Given the description of an element on the screen output the (x, y) to click on. 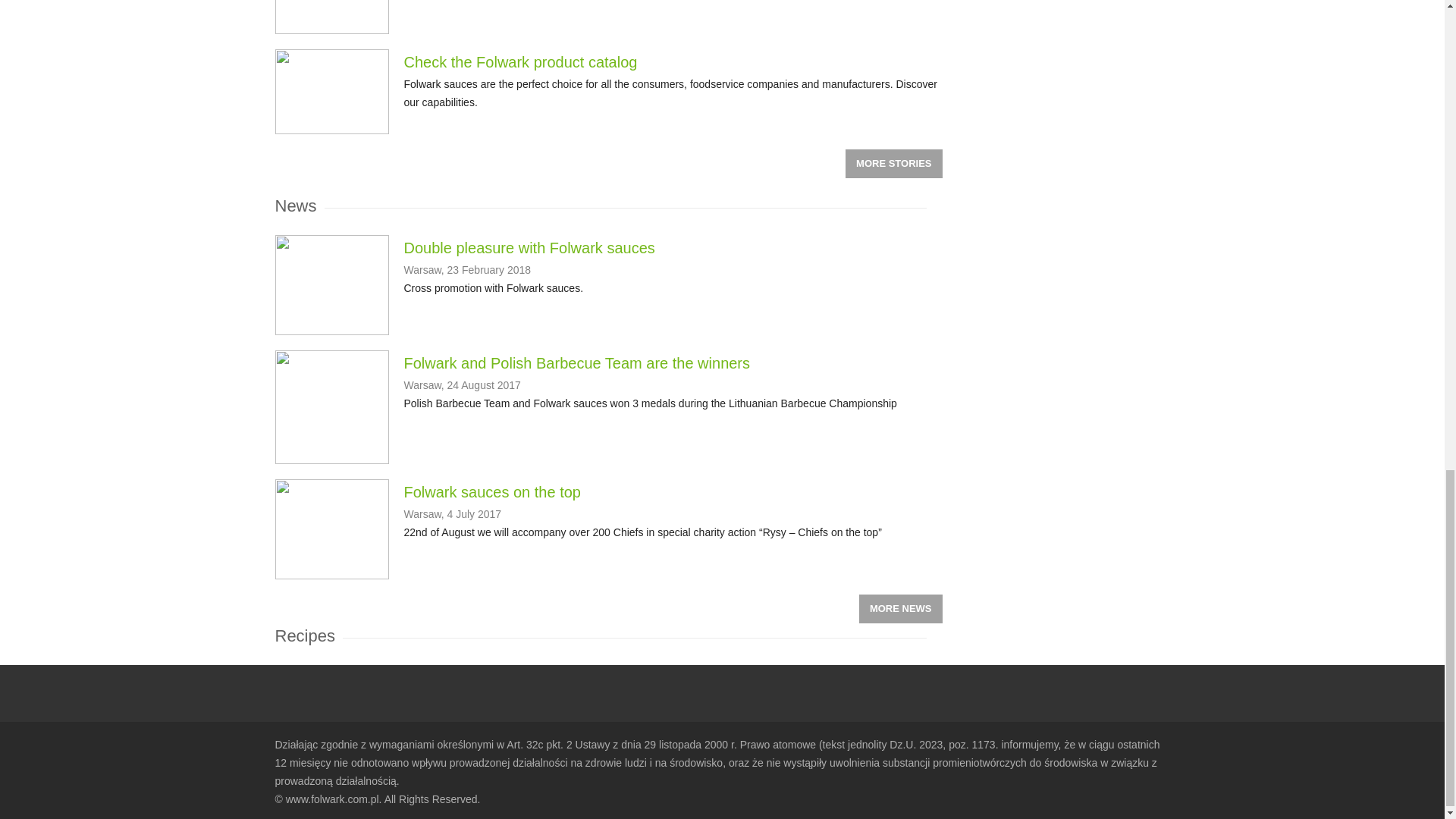
MORE STORIES (893, 163)
Double pleasure with Folwark sauces (528, 247)
Check the Folwark product catalog (520, 62)
